Given the description of an element on the screen output the (x, y) to click on. 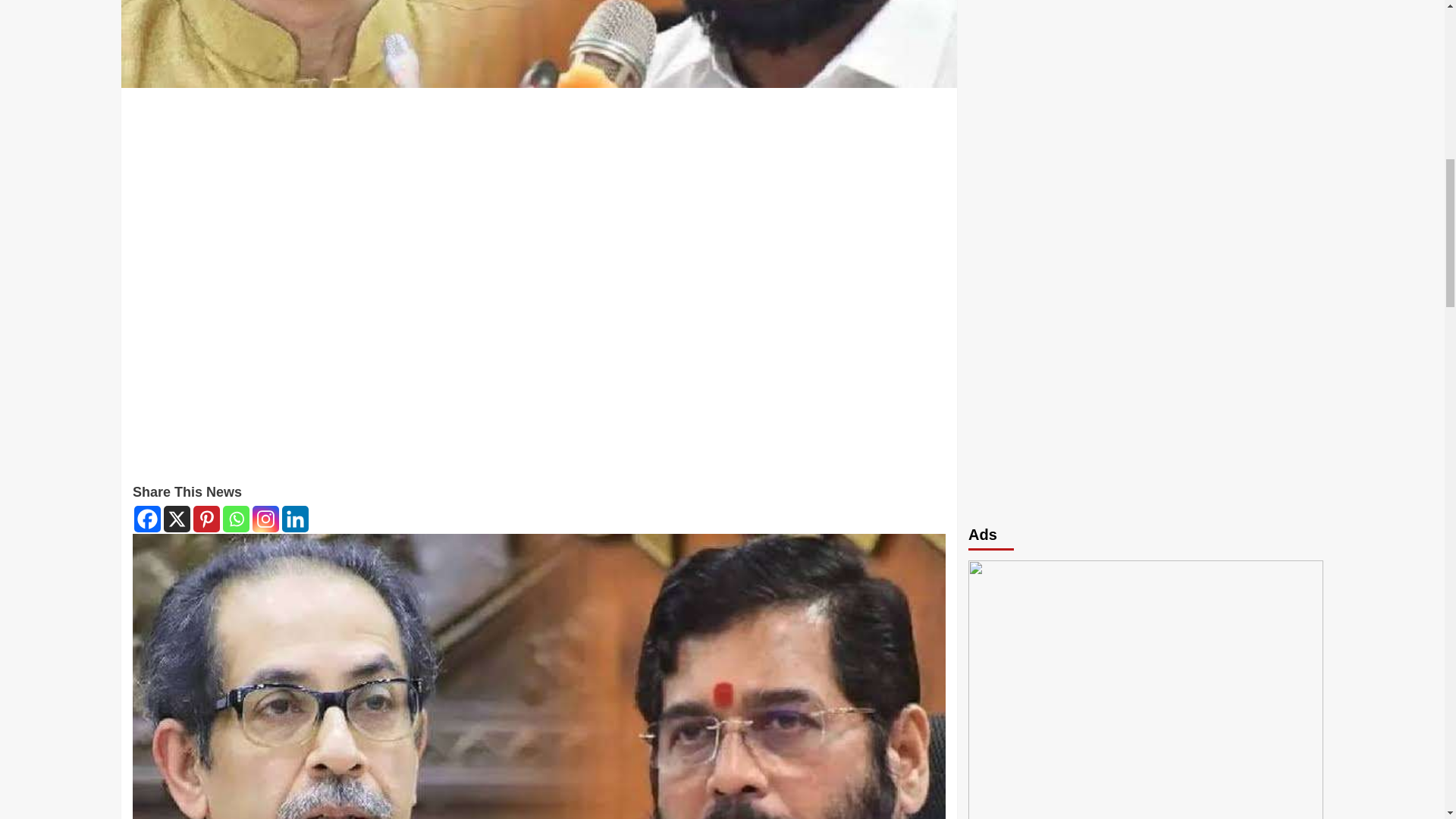
Whatsapp (235, 519)
Instagram (265, 519)
Pinterest (206, 519)
X (176, 519)
Linkedin (295, 519)
Facebook (146, 519)
